Given the description of an element on the screen output the (x, y) to click on. 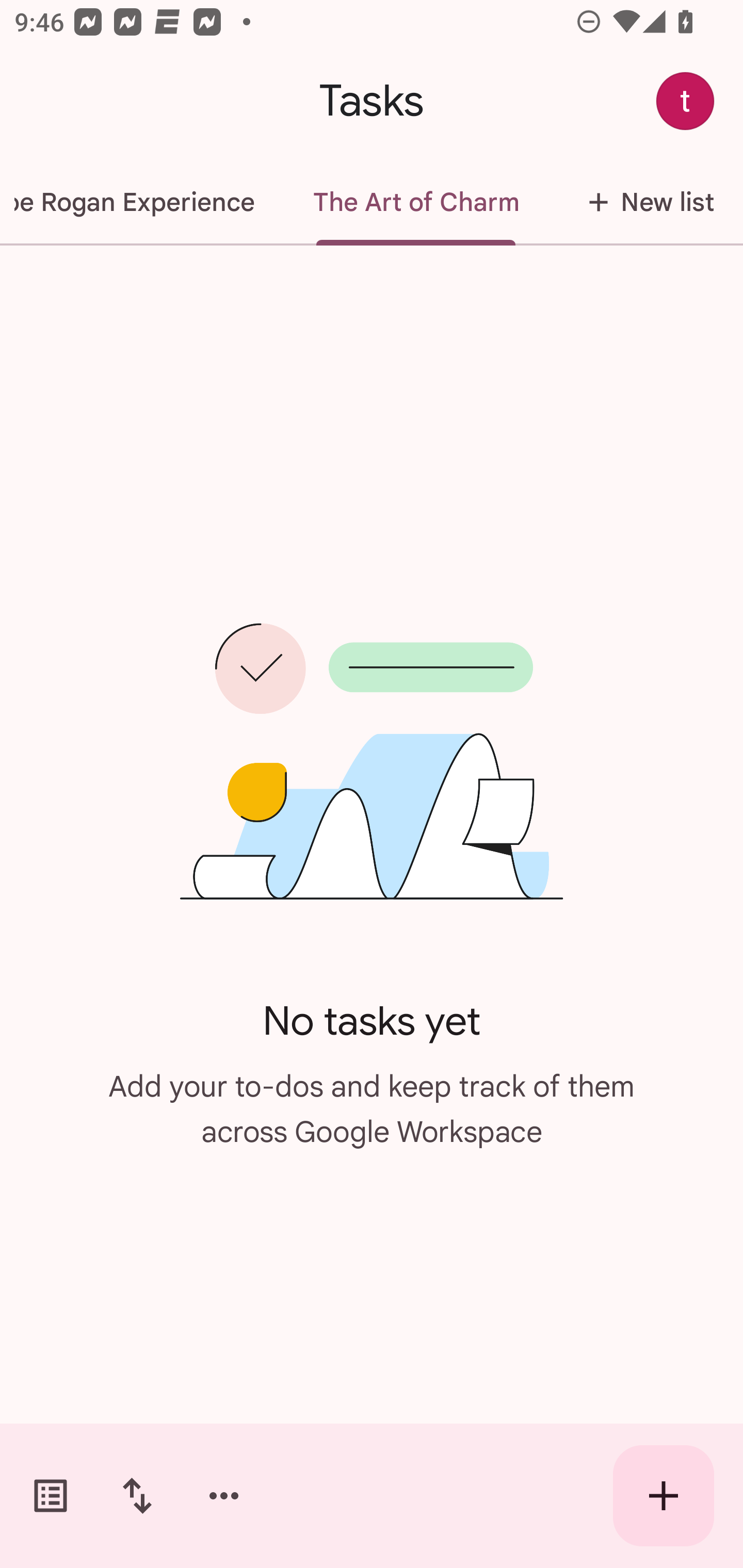
The Joe Rogan Experience (141, 202)
New list (645, 202)
Switch task lists (50, 1495)
Create new task (663, 1495)
Change sort order (136, 1495)
More options (223, 1495)
